Given the description of an element on the screen output the (x, y) to click on. 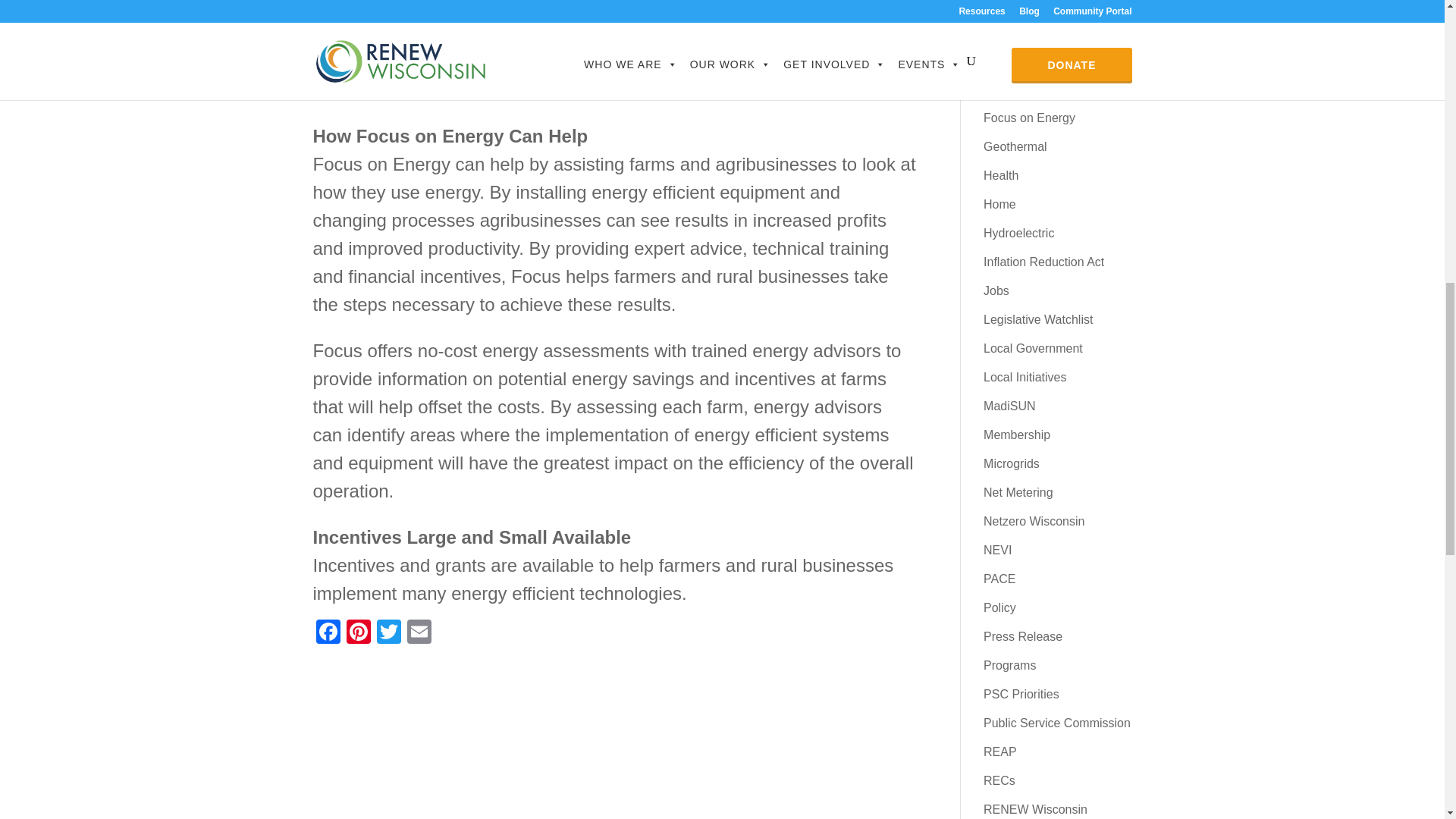
Facebook (327, 633)
Email (418, 633)
Pinterest (357, 633)
Twitter (387, 633)
Email (418, 633)
Facebook (327, 633)
Twitter (387, 633)
Pinterest (357, 633)
